Given the description of an element on the screen output the (x, y) to click on. 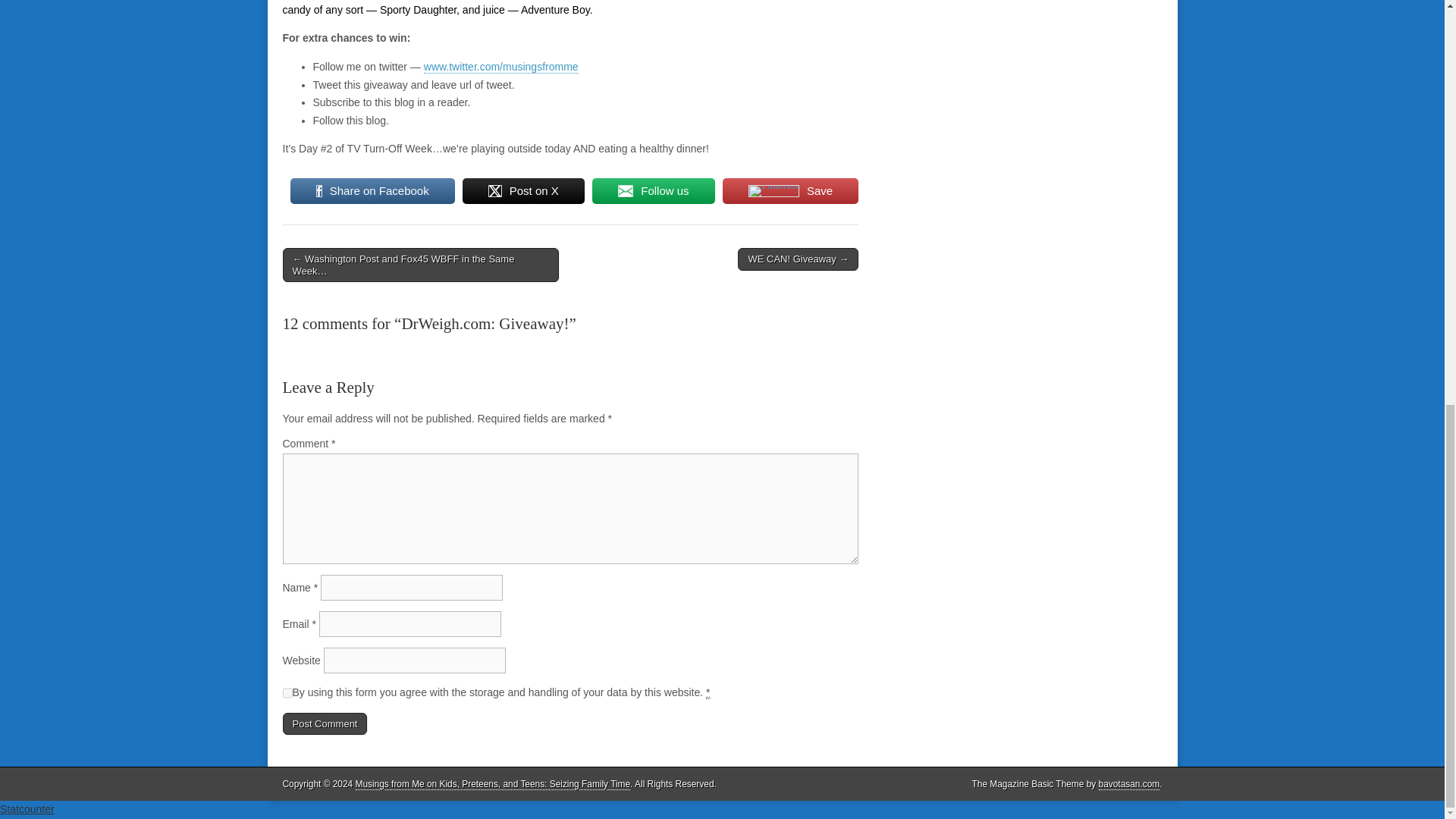
Save (790, 190)
Follow us (653, 190)
Post Comment (324, 723)
Share on Facebook (371, 190)
Post Comment (324, 723)
Post on X (524, 190)
